Given the description of an element on the screen output the (x, y) to click on. 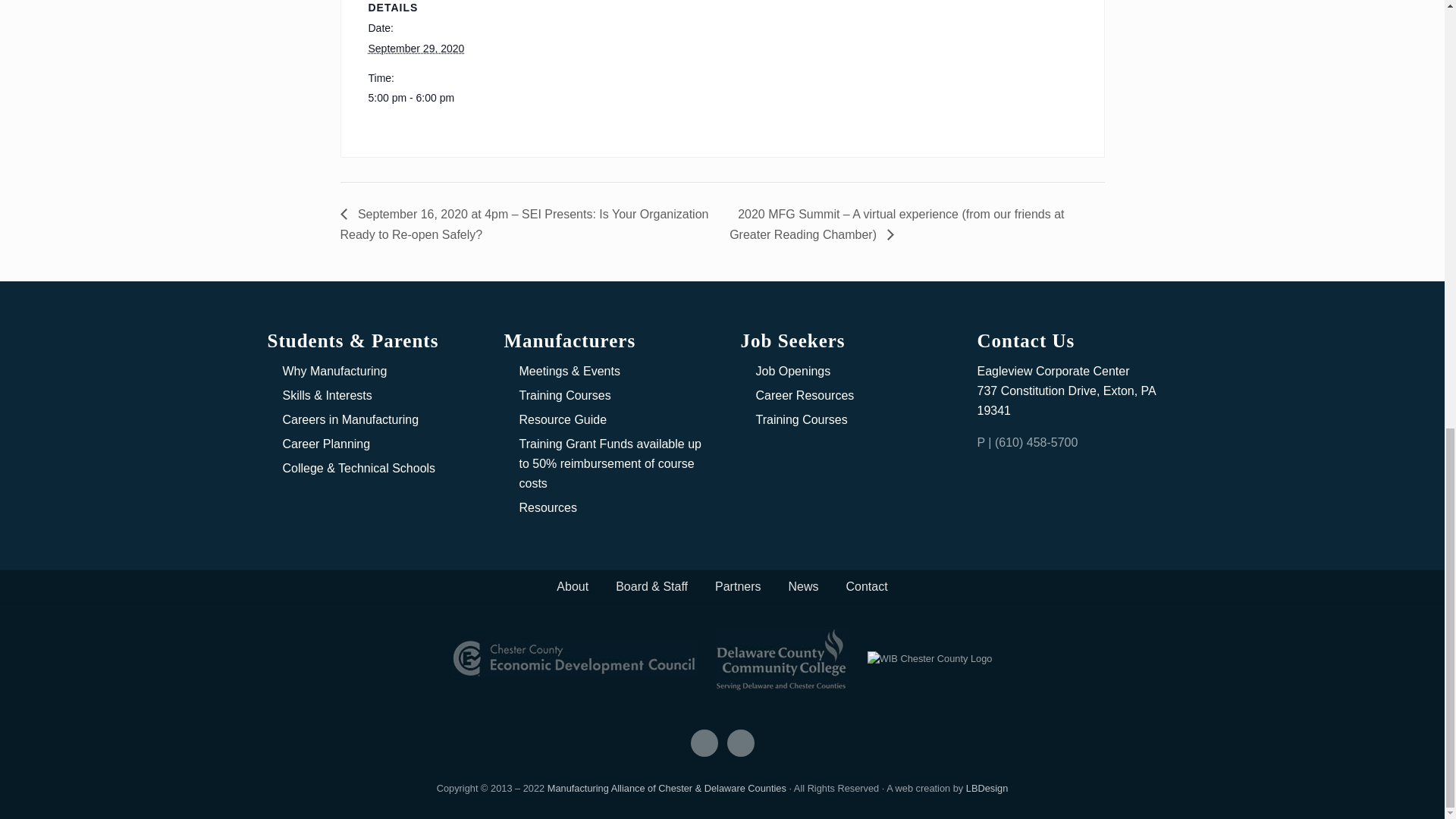
2020-09-29 (416, 48)
2020-09-29 (432, 98)
